Given the description of an element on the screen output the (x, y) to click on. 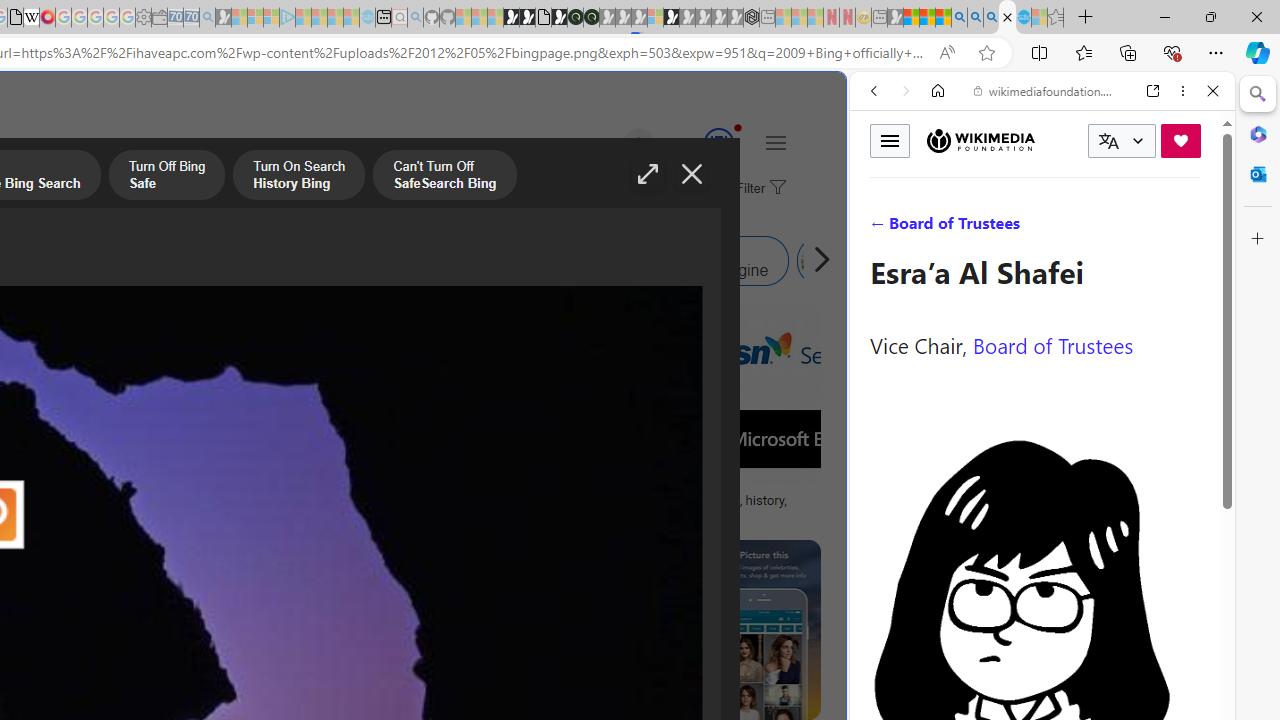
Donate now (1180, 140)
Wikimedia Foundation (980, 140)
Settings and quick links (775, 142)
Forward (906, 91)
Microsoft account | Privacy - Sleeping (271, 17)
Play Free Online Games | Games from Microsoft Start (511, 17)
Search Filter, VIDEOS (1006, 228)
Https Bing Search Q MSN (889, 260)
Technology History timeline | Timetoast timelines (185, 508)
MSN - Sleeping (895, 17)
